Given the description of an element on the screen output the (x, y) to click on. 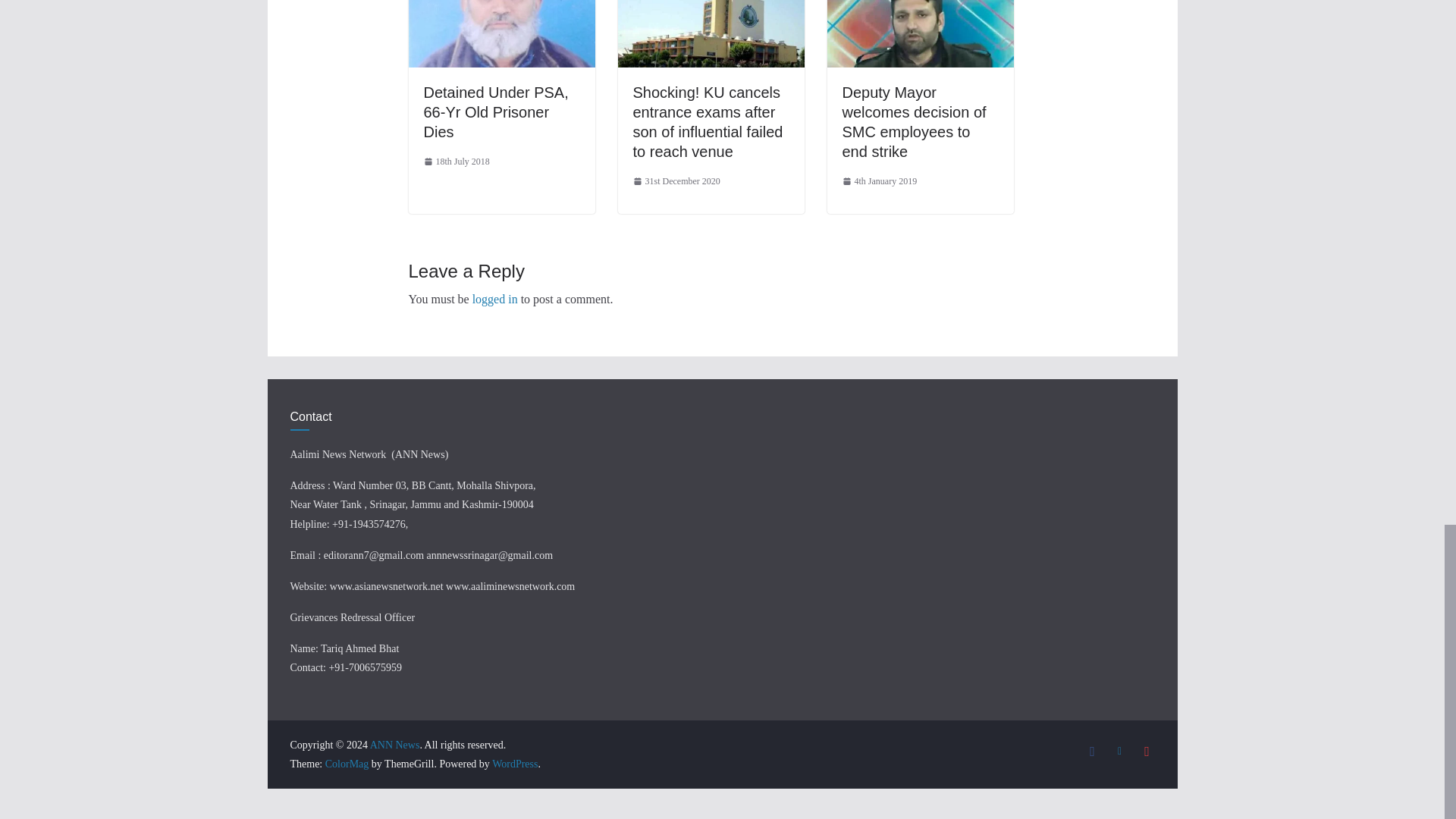
18th July 2018 (456, 161)
Detained Under PSA, 66-Yr Old Prisoner Dies (495, 112)
